Given the description of an element on the screen output the (x, y) to click on. 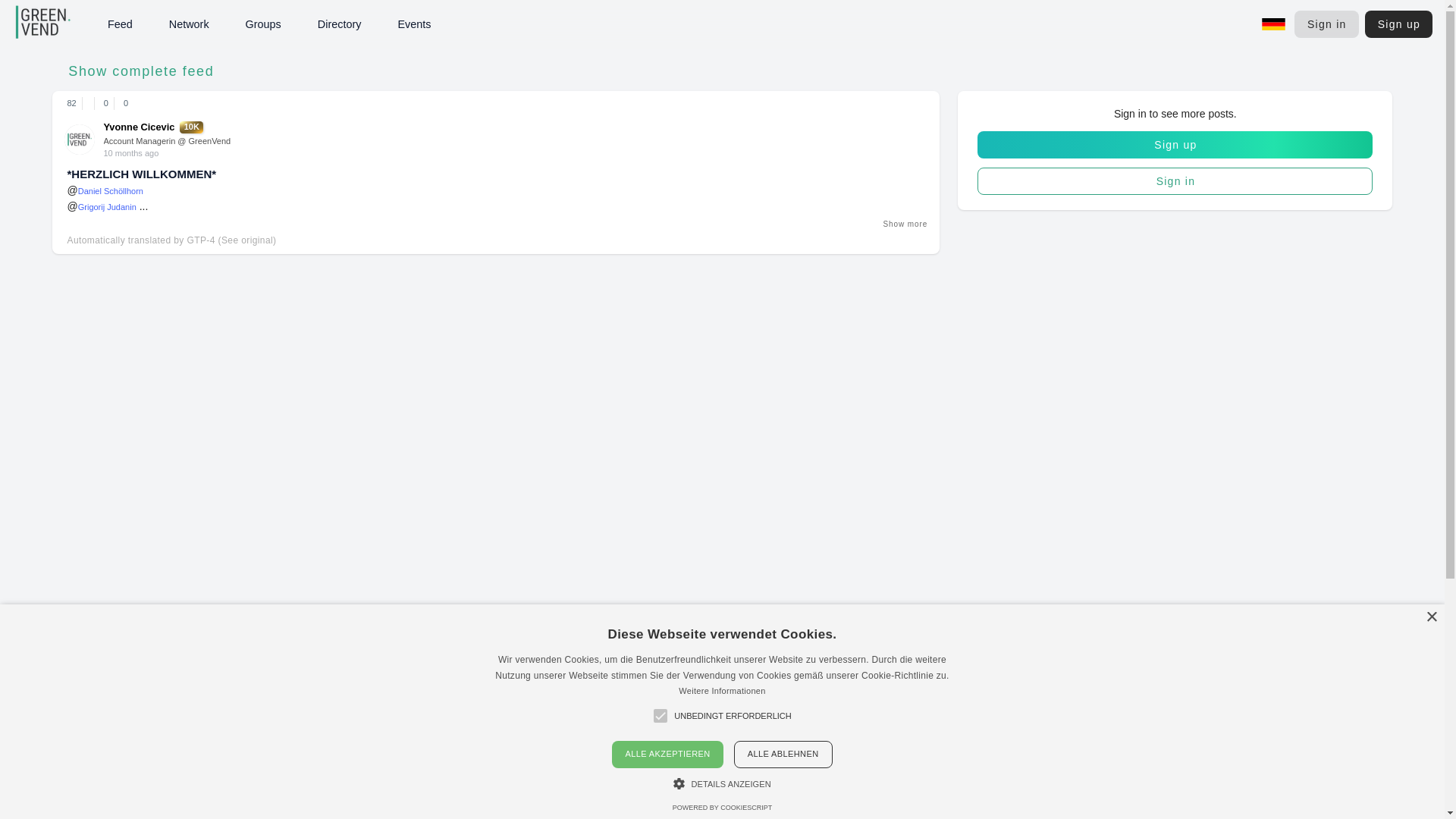
POWERED BY COOKIESCRIPT (721, 807)
Feed (119, 24)
GreenVend Logo (45, 28)
Events (413, 24)
Sign up (1174, 144)
Groups (263, 24)
Weitere Informationen (721, 690)
Consent Management Platform (721, 807)
Sign in (1174, 180)
Show more (904, 224)
german language flag (1273, 24)
Grigorij Judanin (107, 206)
Network (188, 24)
Sign up (1398, 23)
